Given the description of an element on the screen output the (x, y) to click on. 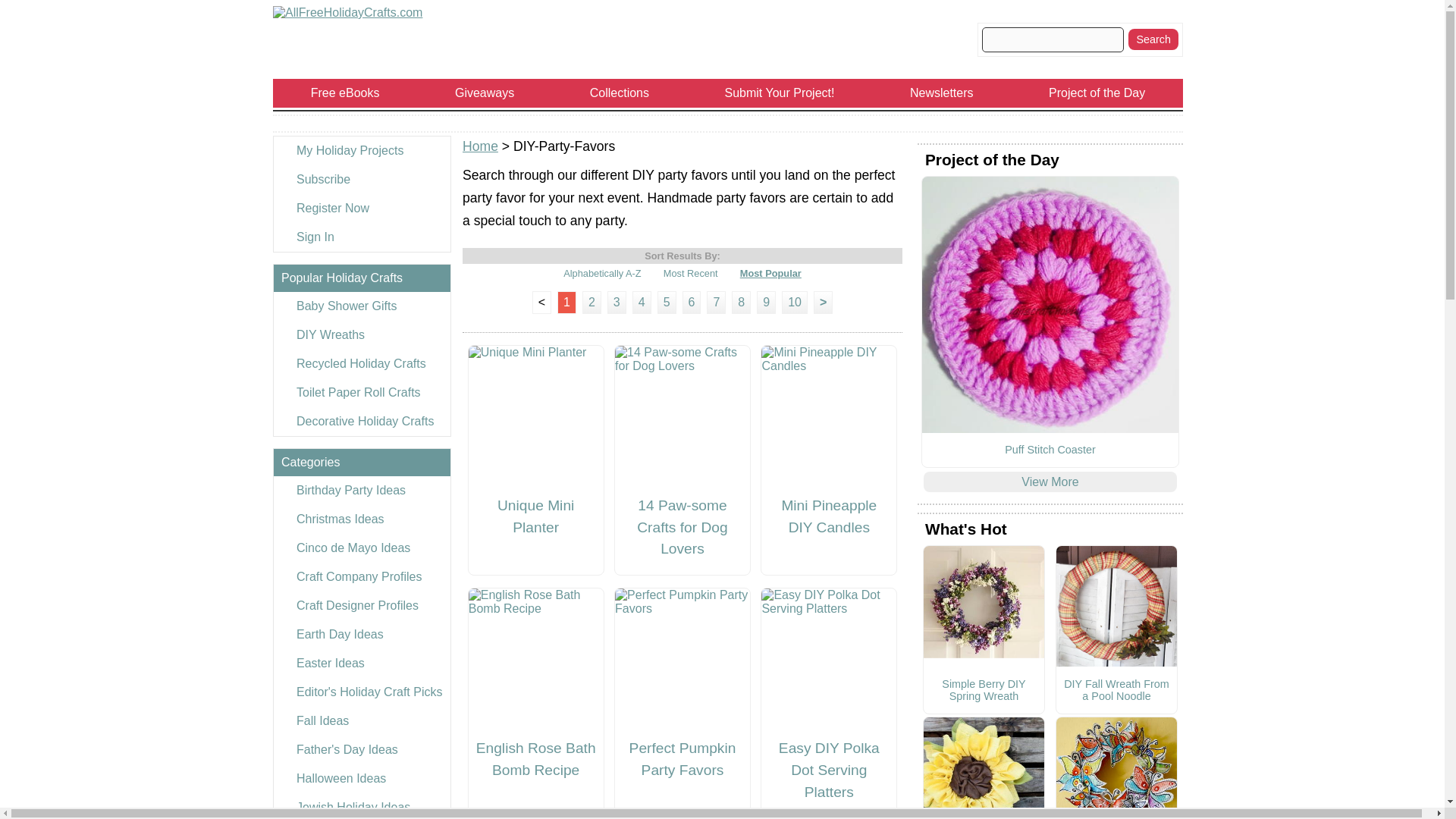
Subscribe (361, 179)
Go to Page 5 (666, 301)
Go to Next Page (822, 301)
Go to Page 7 (716, 301)
Go to Page 6 (691, 301)
Go to Page 2 (591, 301)
My Holiday Projects (361, 150)
Go to Page 10 (794, 301)
Go to Page 9 (766, 301)
Go to Page 4 (640, 301)
Go to Page 3 (616, 301)
Sign In (361, 236)
Register Now (361, 208)
Go to Page 8 (741, 301)
Search (1152, 38)
